Given the description of an element on the screen output the (x, y) to click on. 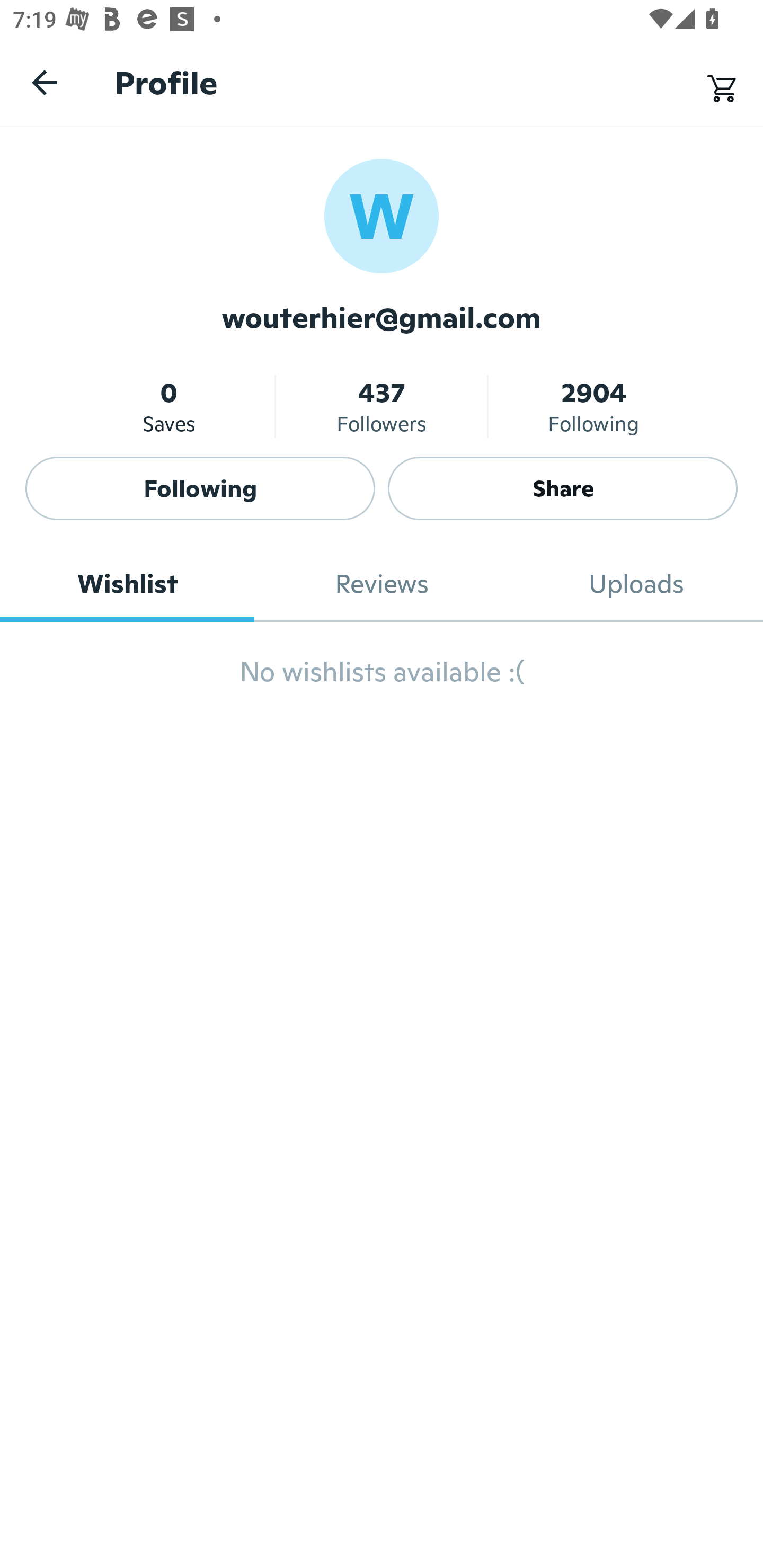
Navigate up (44, 82)
W (381, 215)
437 Followers (381, 405)
2904 Following (593, 405)
Following (200, 488)
Share (562, 488)
Wishlist (127, 583)
Reviews (381, 583)
Uploads (635, 583)
No wishlists available :( (381, 679)
